Given the description of an element on the screen output the (x, y) to click on. 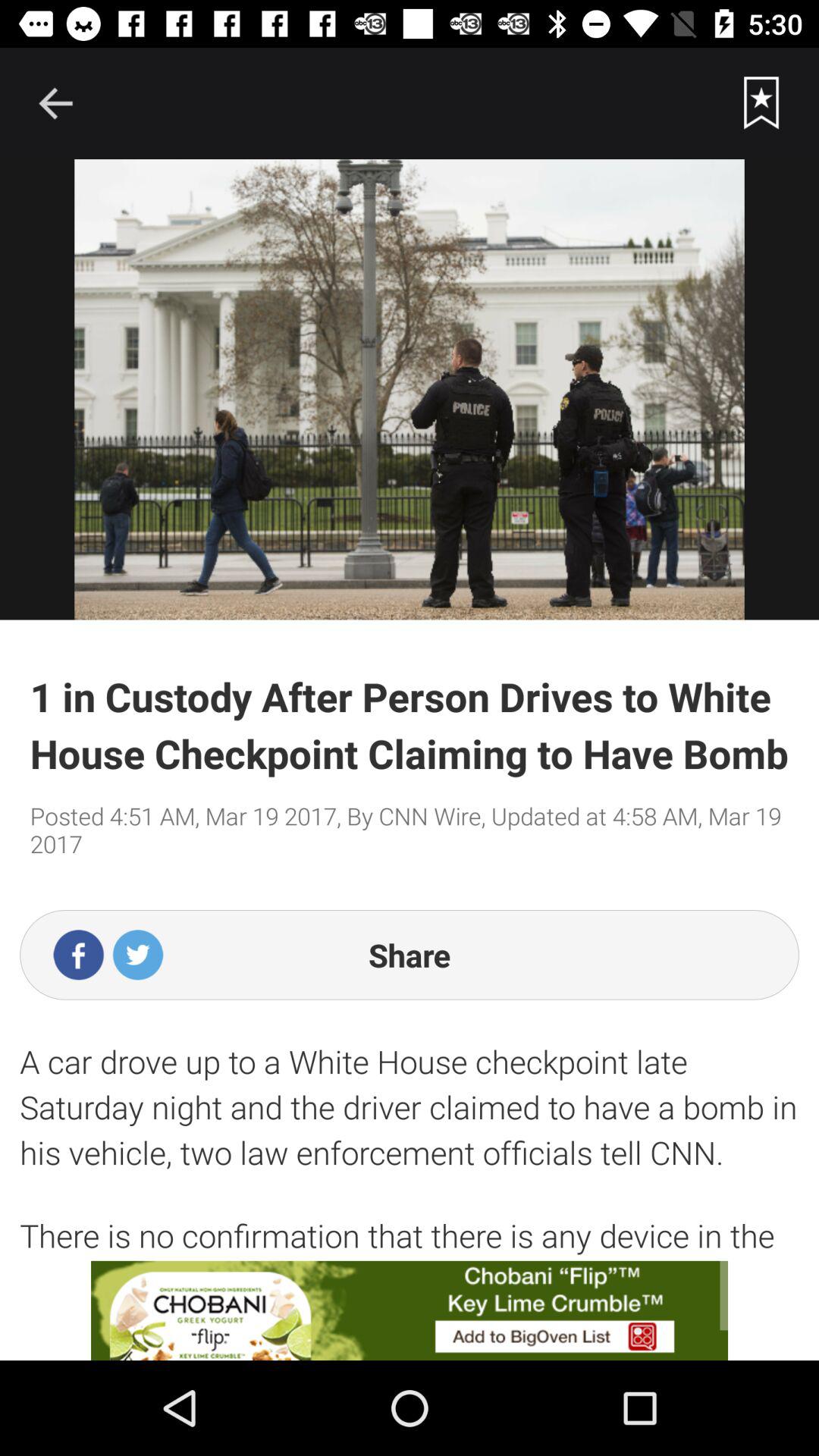
goback (55, 103)
